Given the description of an element on the screen output the (x, y) to click on. 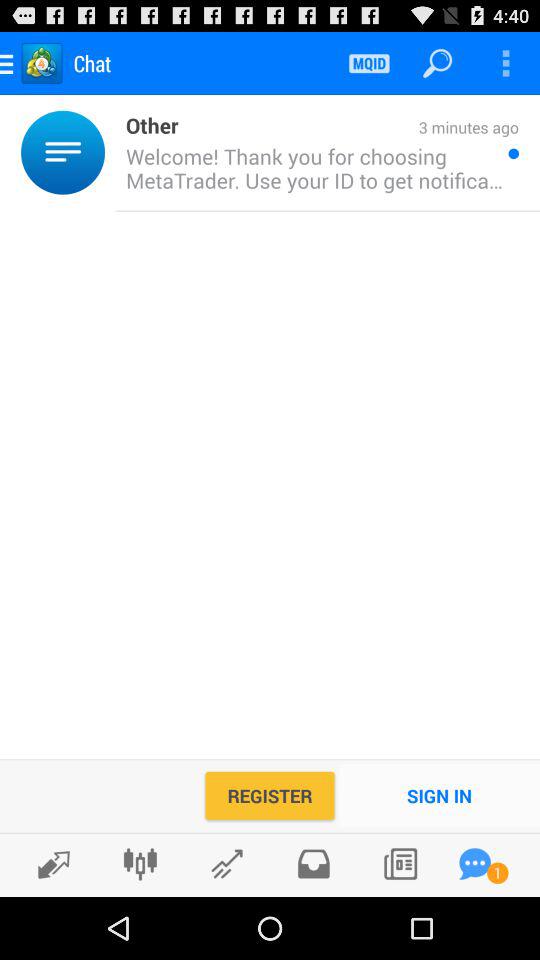
open news (400, 863)
